Given the description of an element on the screen output the (x, y) to click on. 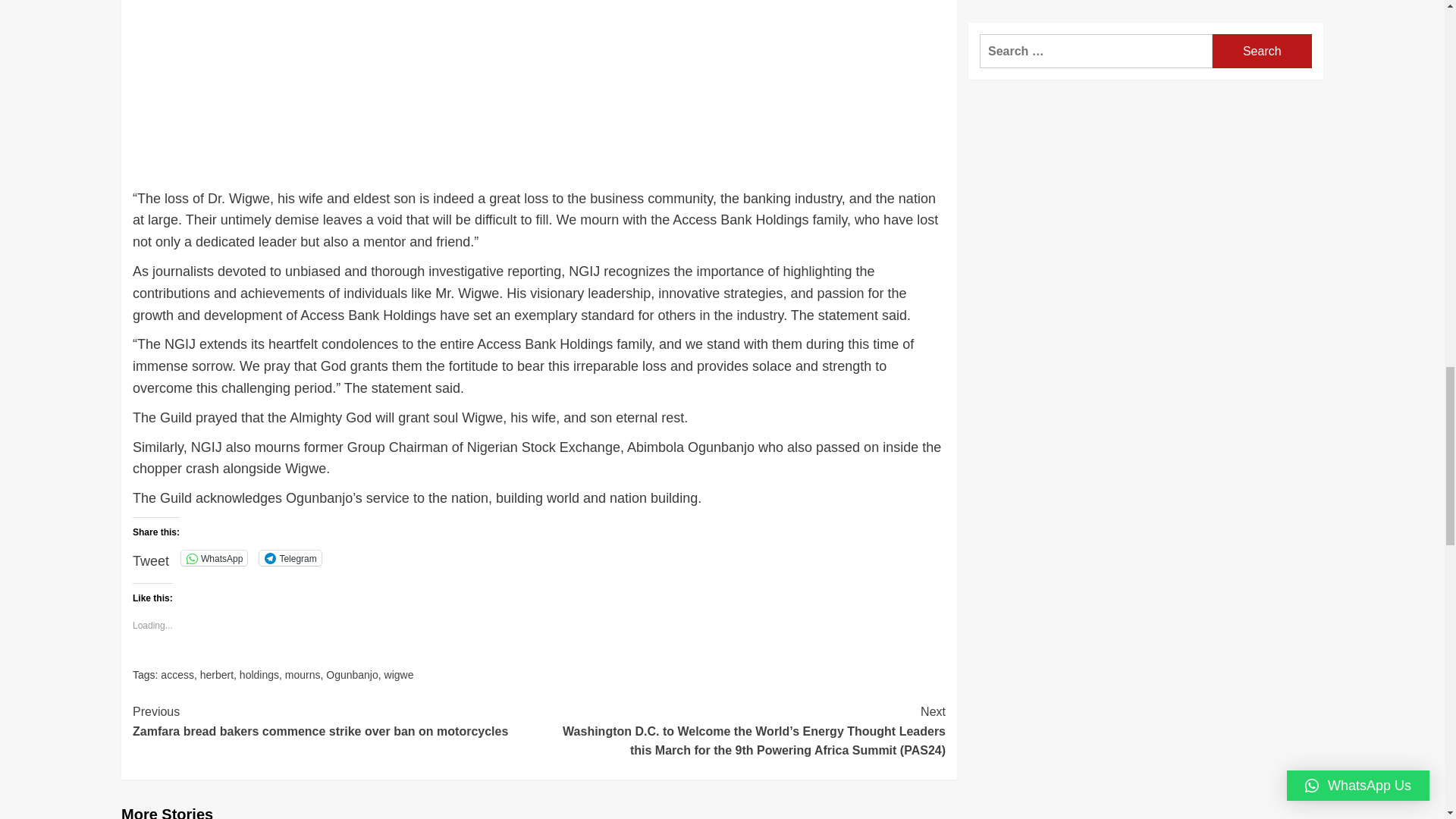
Tweet (150, 553)
Click to share on WhatsApp (213, 557)
Ogunbanjo (352, 674)
Click to share on Telegram (289, 557)
holdings (259, 674)
WhatsApp (213, 557)
access (176, 674)
Telegram (289, 557)
mourns (302, 674)
herbert (216, 674)
